Given the description of an element on the screen output the (x, y) to click on. 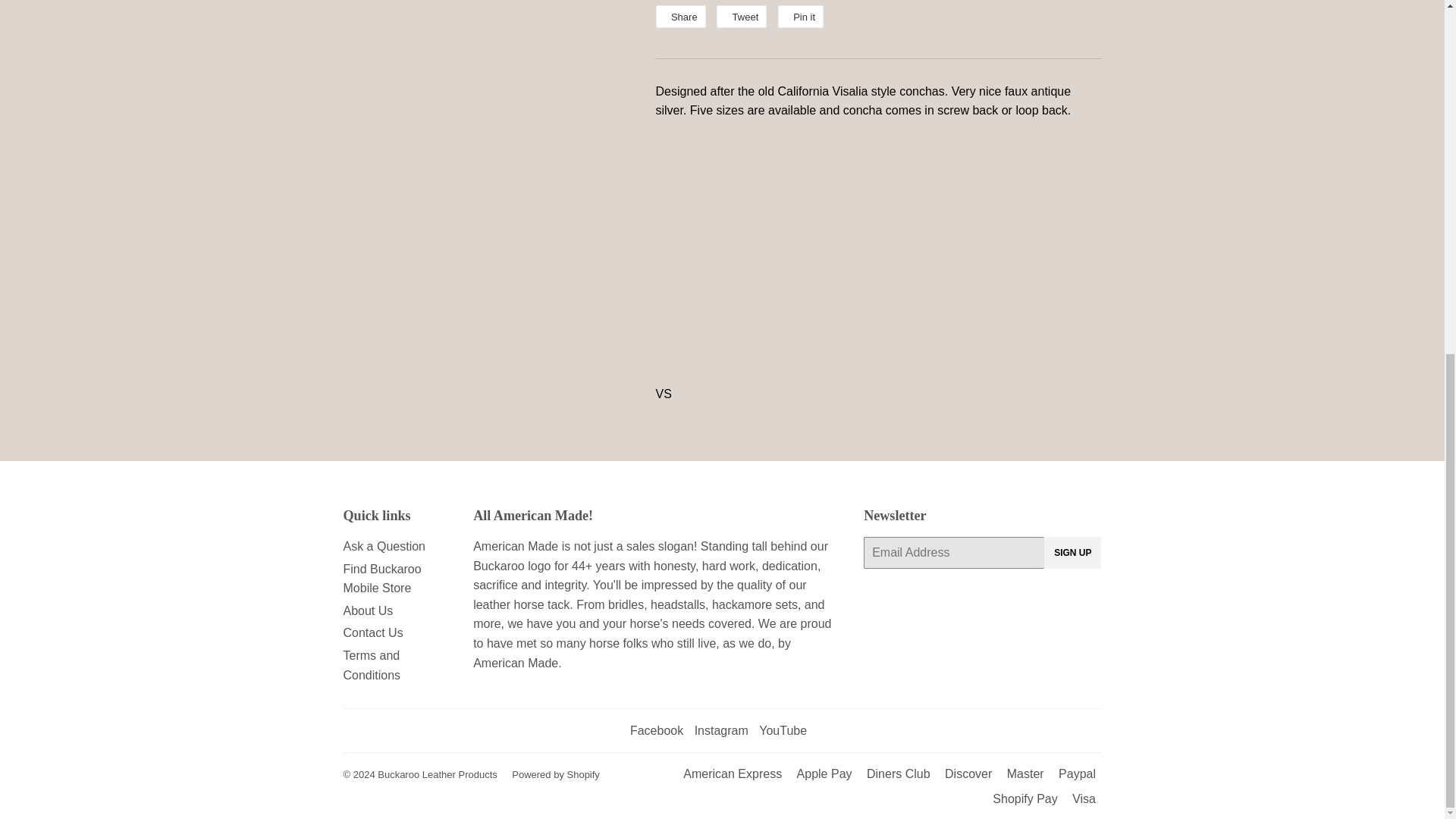
Pin on Pinterest (800, 15)
Share on Facebook (679, 15)
Buckaroo Leather Products on Instagram (721, 730)
Buckaroo Leather Products on YouTube (782, 730)
Tweet on Twitter (741, 15)
Buckaroo Leather Products on Facebook (656, 730)
